Given the description of an element on the screen output the (x, y) to click on. 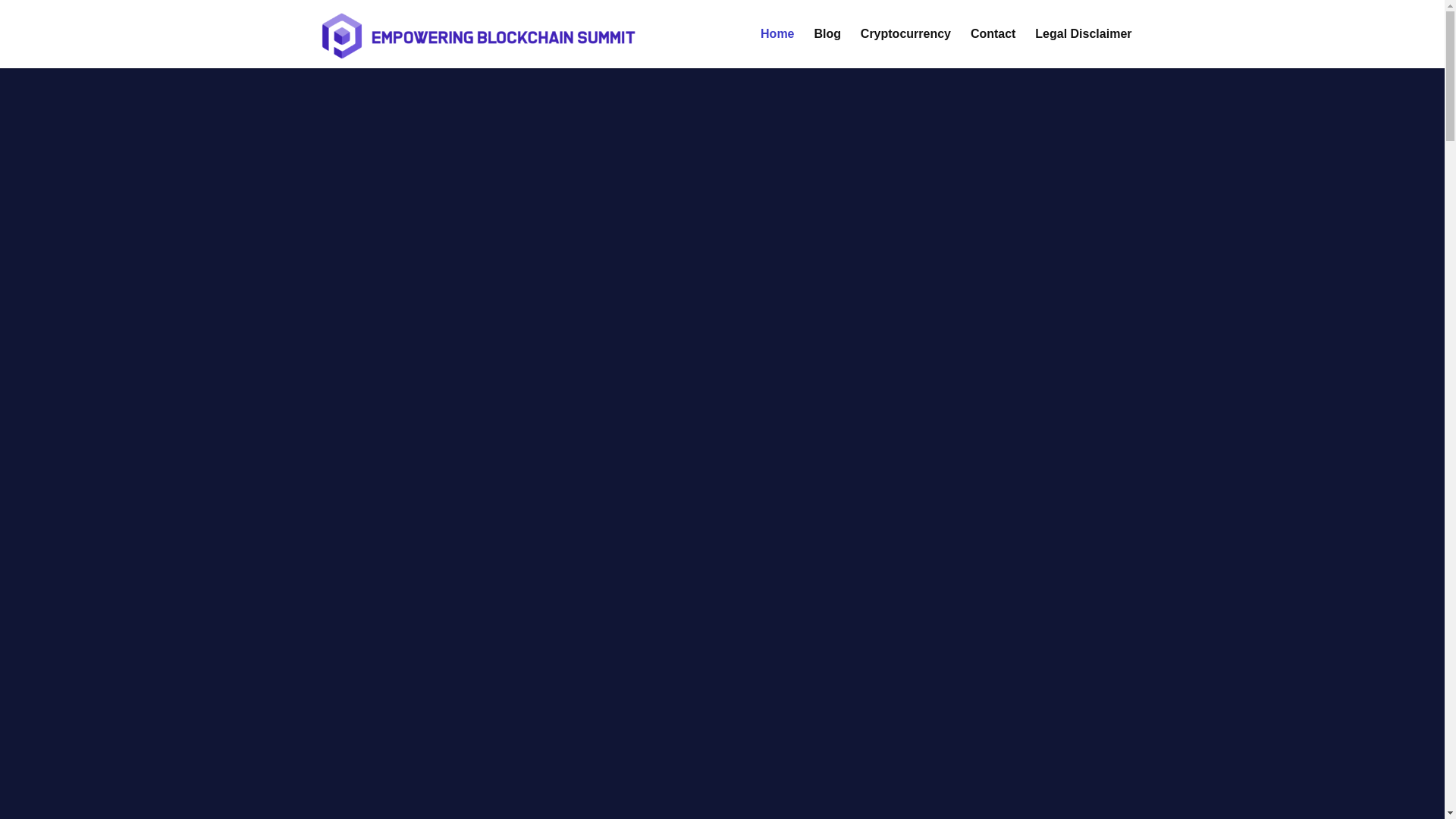
Blog (827, 47)
Home (776, 47)
Cryptocurrency (905, 47)
Contact (993, 47)
Legal Disclaimer (1083, 47)
